Given the description of an element on the screen output the (x, y) to click on. 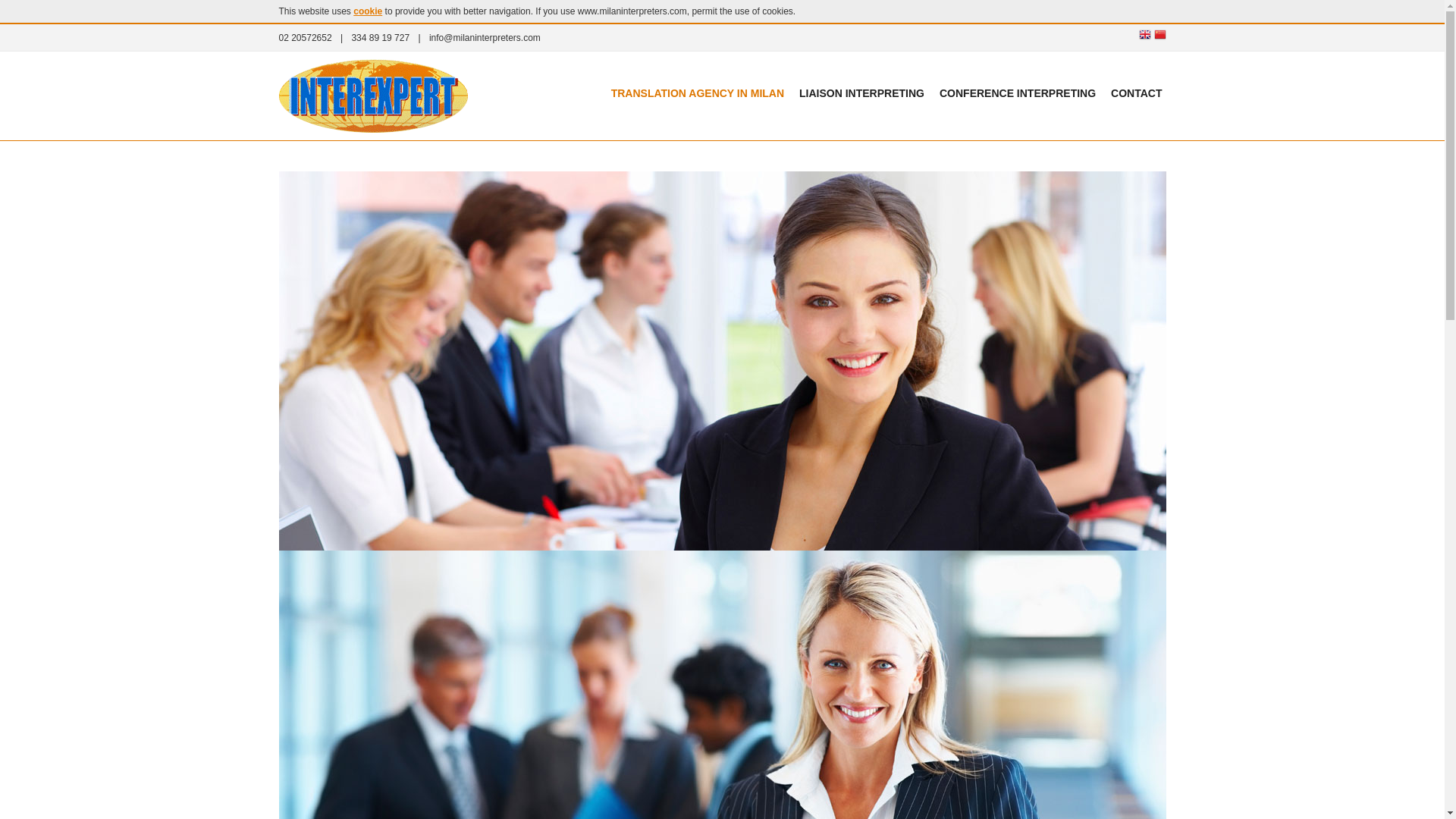
English (1144, 34)
CONTACT (1136, 92)
LIAISON INTERPRETING (861, 92)
TRANSLATION AGENCY IN MILAN (697, 92)
CONFERENCE INTERPRETING (1017, 92)
cookie (367, 10)
